Given the description of an element on the screen output the (x, y) to click on. 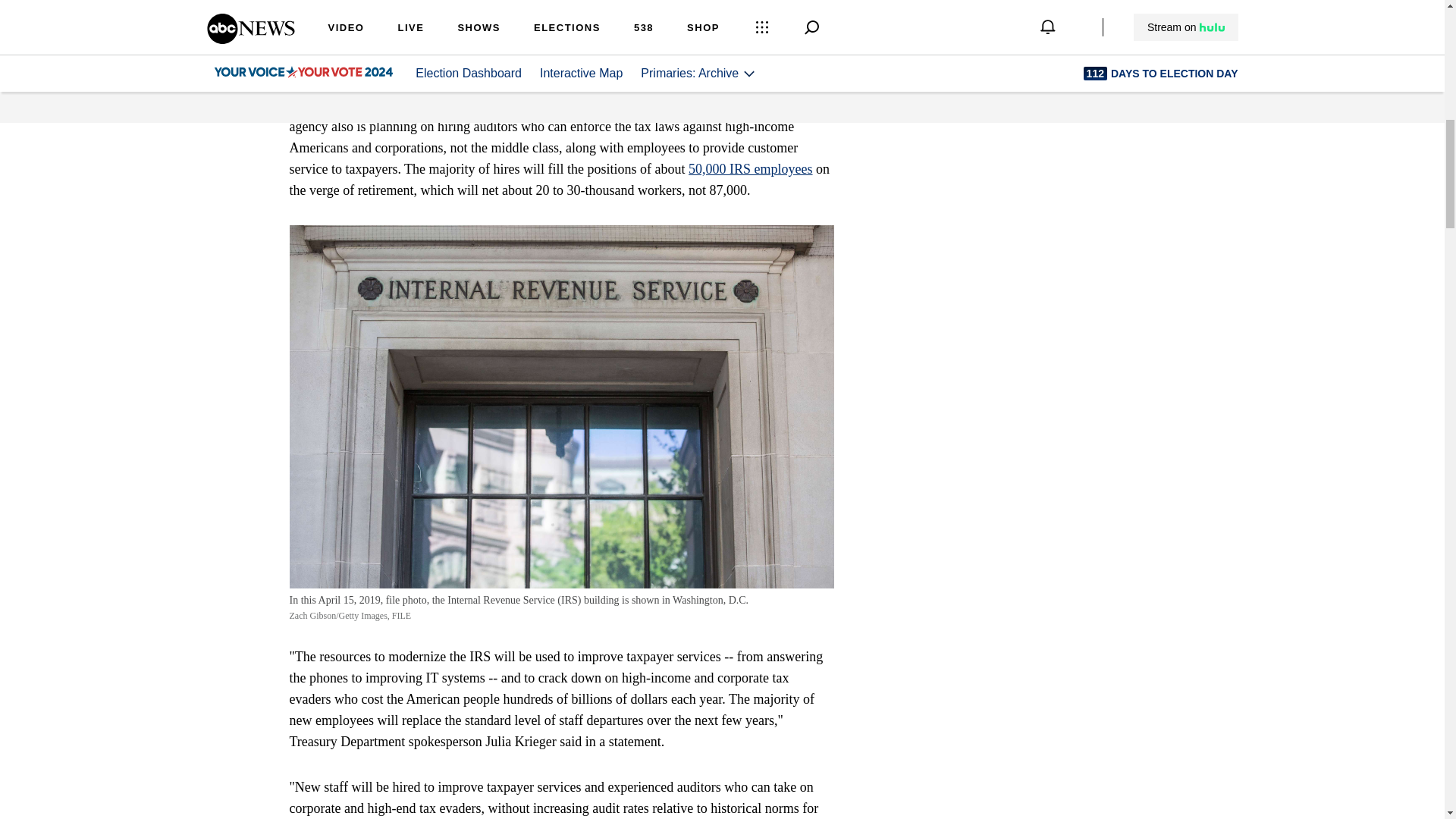
IRS (687, 38)
50,000 IRS employees (750, 168)
letter (326, 105)
